Given the description of an element on the screen output the (x, y) to click on. 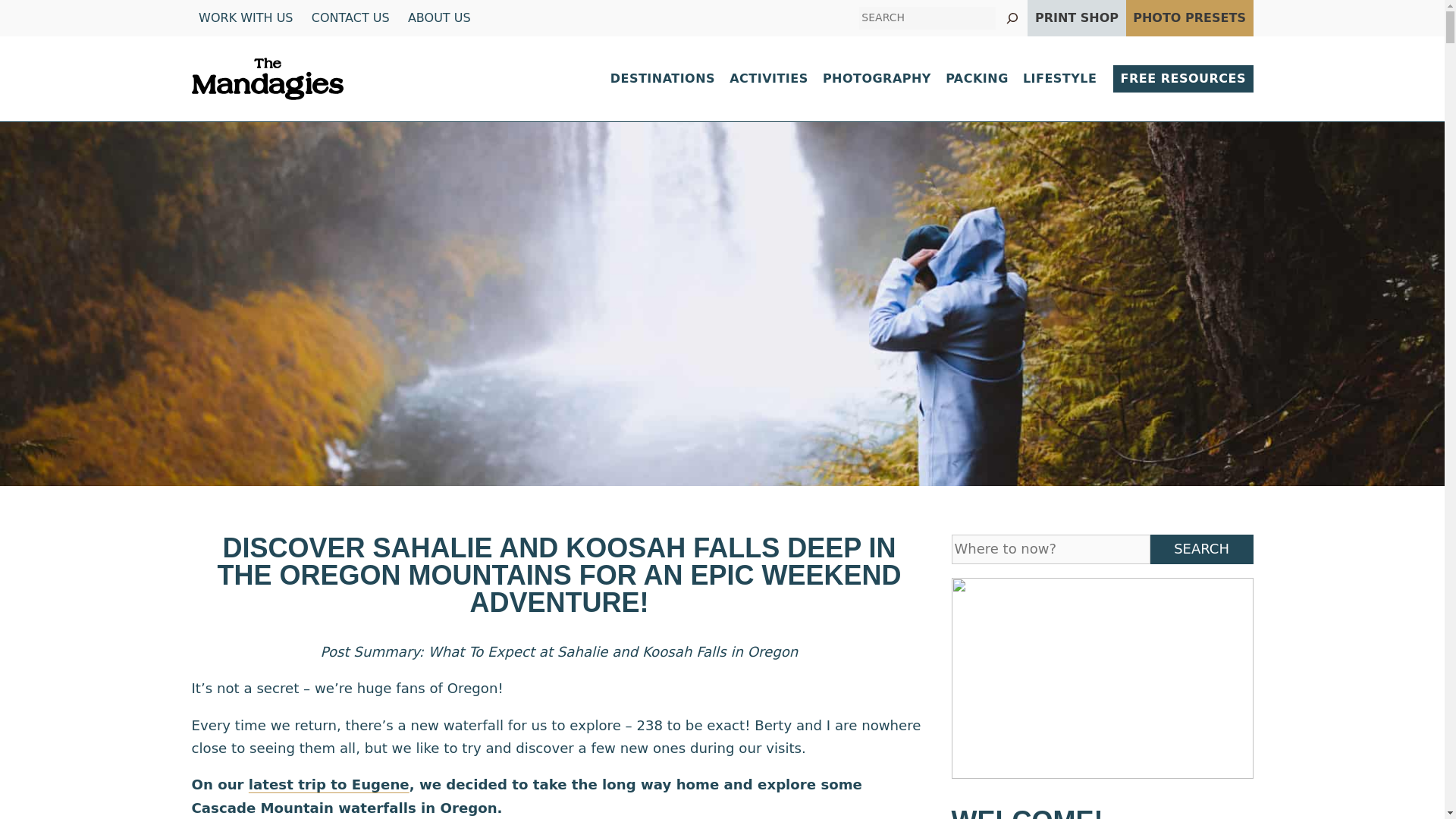
The Mandagies (266, 78)
PRINT SHOP (1076, 18)
ACTIVITIES (768, 78)
WORK WITH US (244, 18)
ABOUT US (438, 18)
DESTINATIONS (662, 78)
PHOTO PRESETS (1189, 18)
PHOTOGRAPHY (876, 78)
Search (1050, 549)
CONTACT US (350, 18)
